Given the description of an element on the screen output the (x, y) to click on. 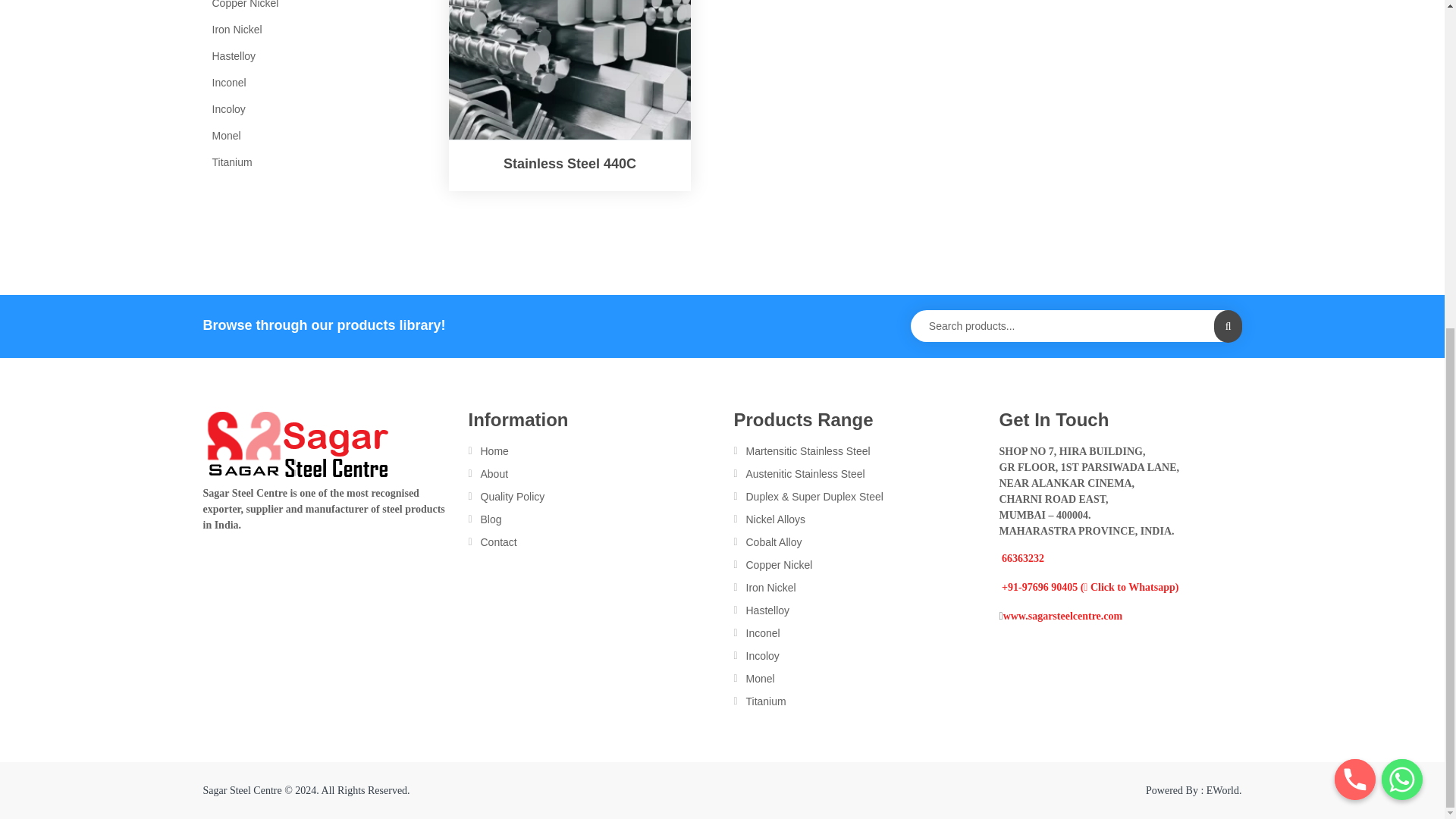
Hastelloy (307, 56)
Stainless Steel 440C (569, 69)
Iron Nickel (307, 29)
Copper Nickel (307, 7)
Inconel (307, 82)
